Given the description of an element on the screen output the (x, y) to click on. 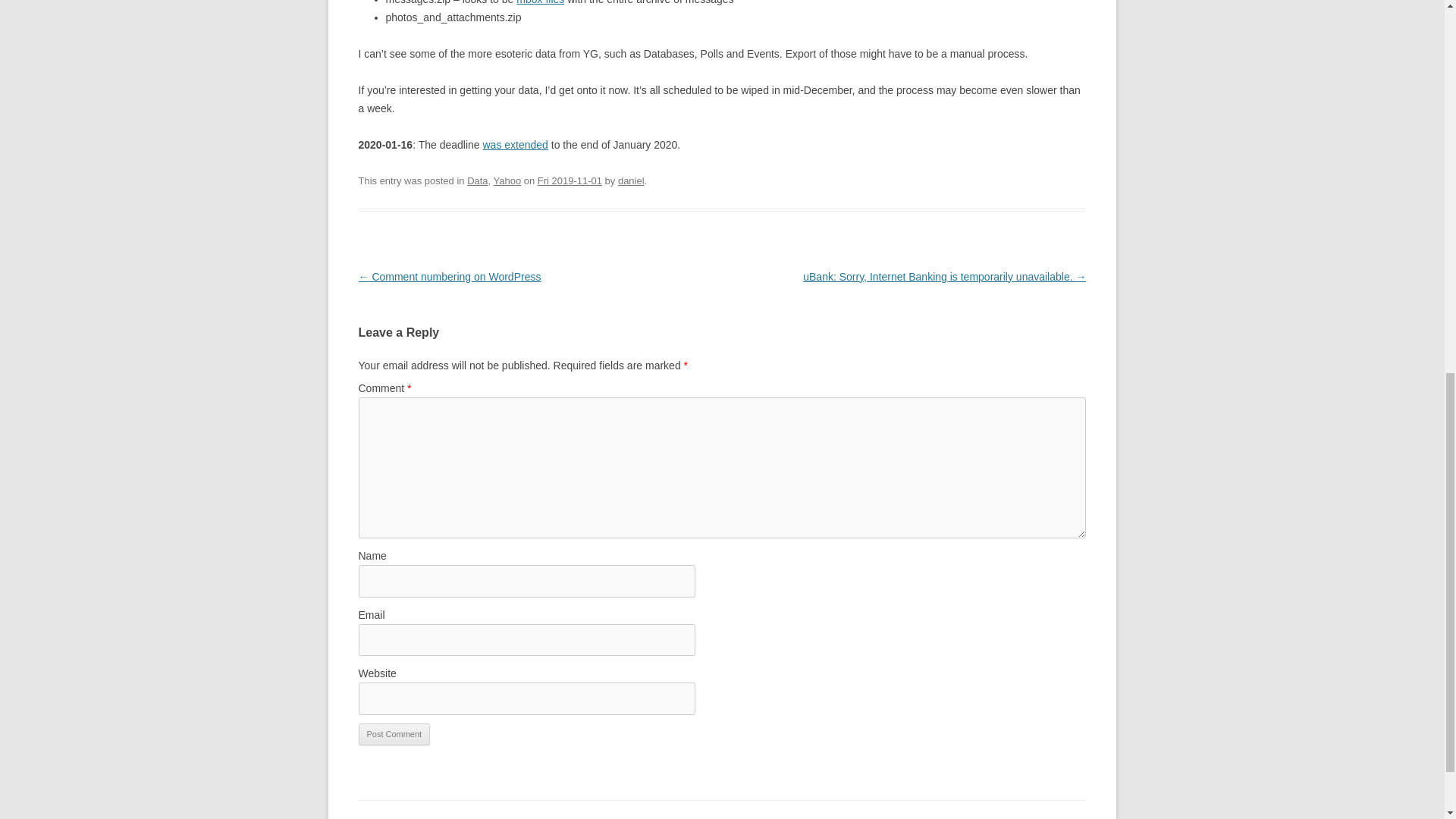
Fri 2019-11-01 (569, 180)
Data (477, 180)
Post Comment (393, 734)
Yahoo (507, 180)
View all posts by daniel (631, 180)
was extended (514, 144)
mbox files (540, 2)
07:55 (569, 180)
Post Comment (393, 734)
daniel (631, 180)
